Given the description of an element on the screen output the (x, y) to click on. 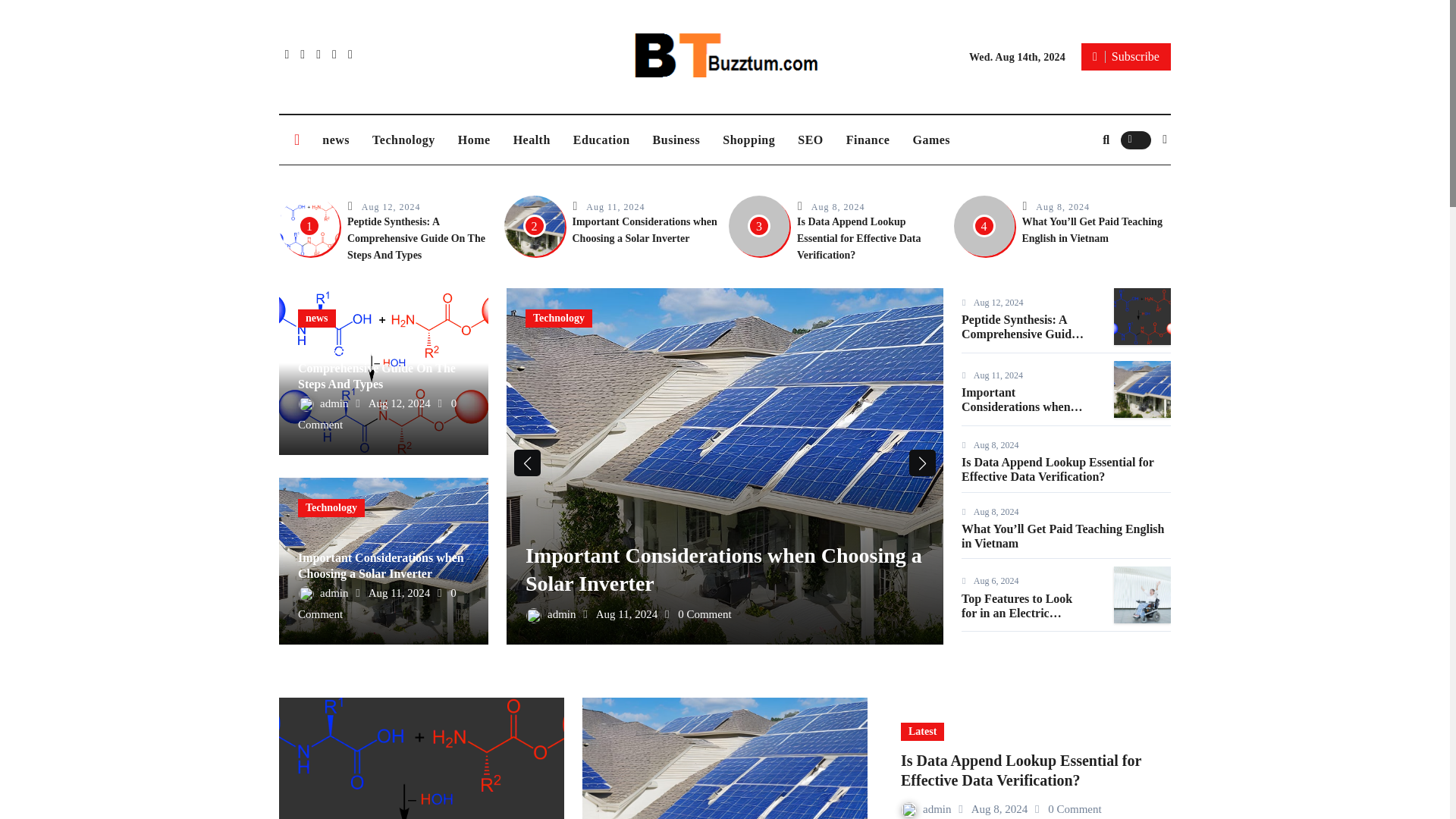
Finance (867, 139)
Home (474, 139)
Education (602, 139)
news (317, 318)
Technology (403, 139)
Health (532, 139)
news (336, 139)
Health (532, 139)
Business (676, 139)
